Given the description of an element on the screen output the (x, y) to click on. 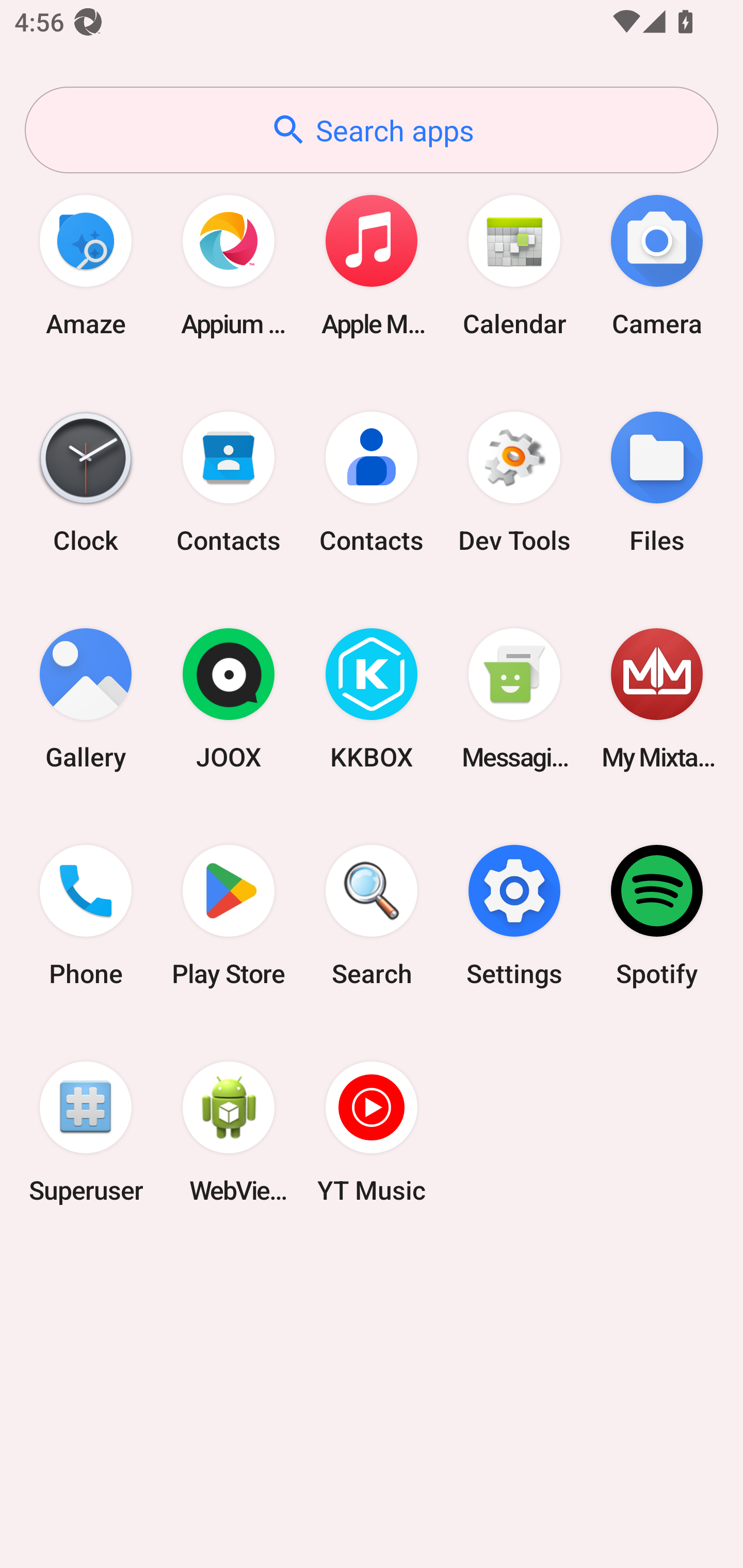
  Search apps (371, 130)
Amaze (85, 264)
Appium Settings (228, 264)
Apple Music (371, 264)
Calendar (514, 264)
Camera (656, 264)
Clock (85, 482)
Contacts (228, 482)
Contacts (371, 482)
Dev Tools (514, 482)
Files (656, 482)
Gallery (85, 699)
JOOX (228, 699)
KKBOX (371, 699)
Messaging (514, 699)
My Mixtapez (656, 699)
Phone (85, 915)
Play Store (228, 915)
Search (371, 915)
Settings (514, 915)
Spotify (656, 915)
Superuser (85, 1131)
WebView Browser Tester (228, 1131)
YT Music (371, 1131)
